Given the description of an element on the screen output the (x, y) to click on. 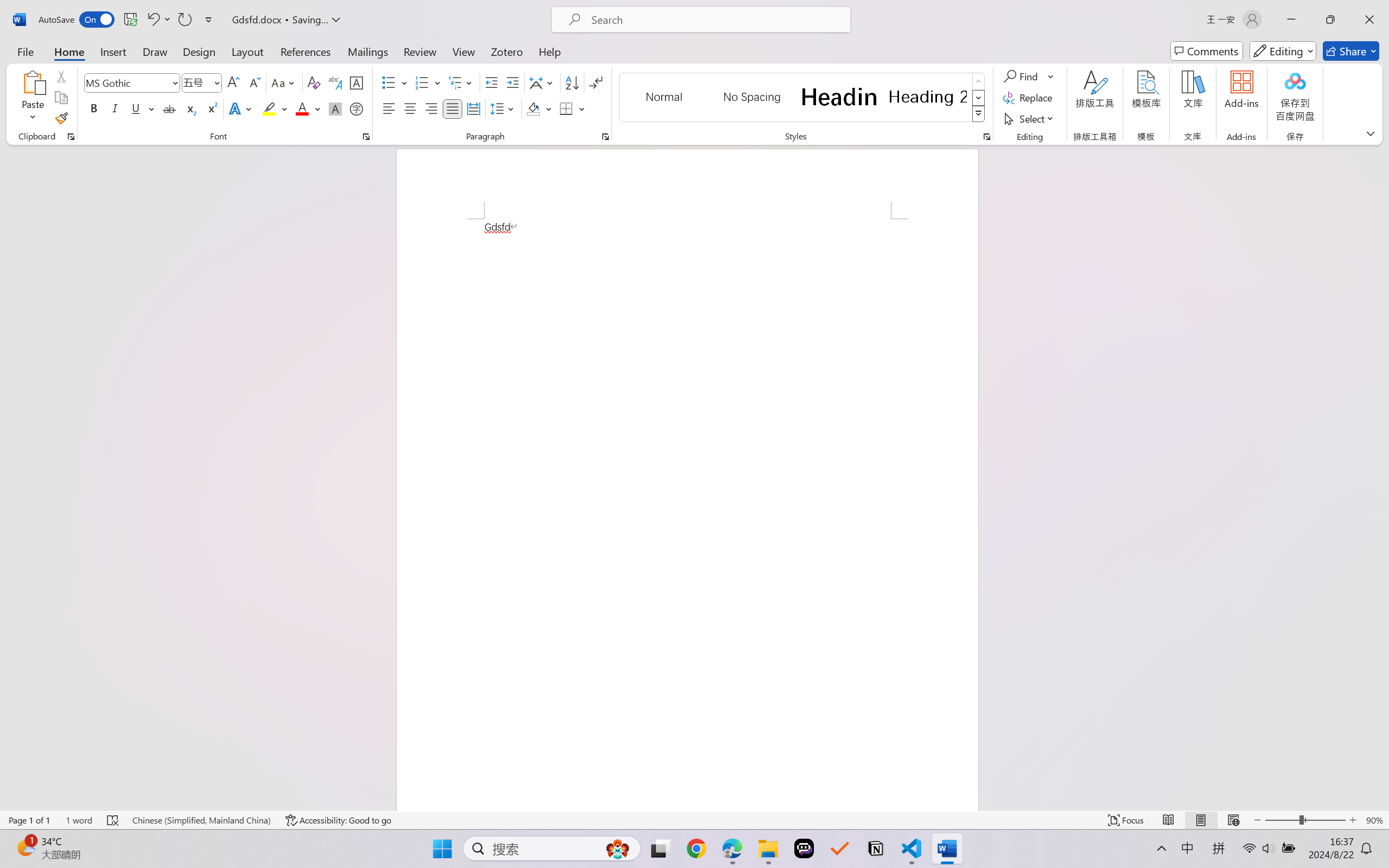
Font Color (308, 108)
Replace... (1029, 97)
Class: NetUIScrollBar (1382, 477)
Character Border (356, 82)
Change Case (284, 82)
Font Color Red (302, 108)
